Given the description of an element on the screen output the (x, y) to click on. 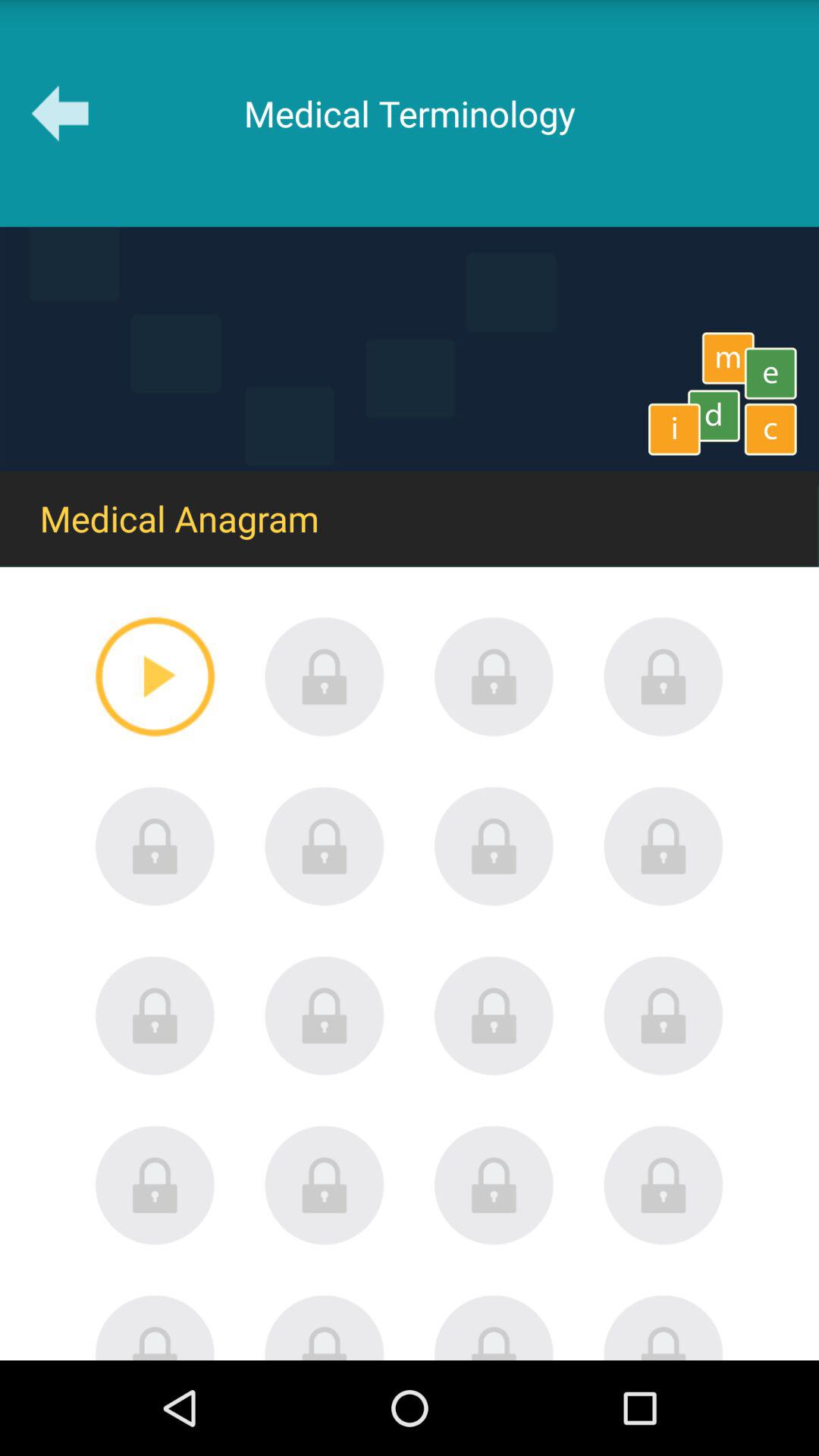
play selected item (154, 676)
